Given the description of an element on the screen output the (x, y) to click on. 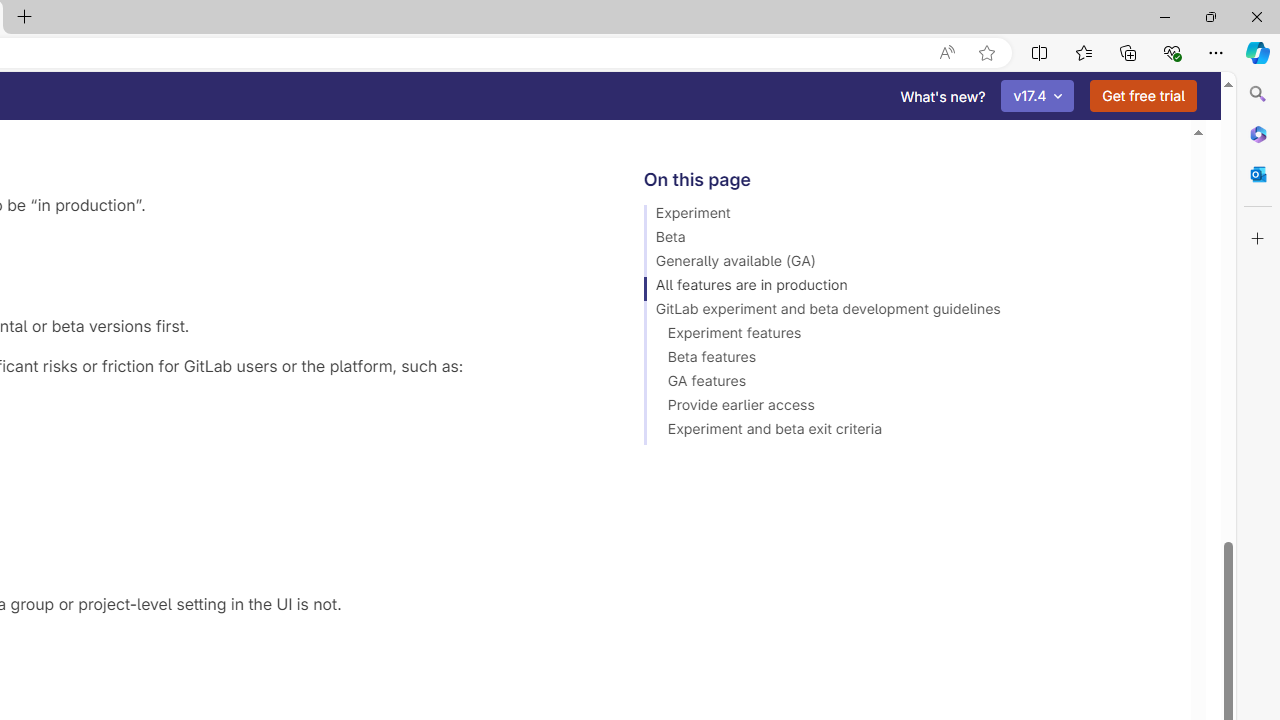
Beta (908, 240)
GA features (908, 384)
Get free trial (1143, 95)
Experiment (908, 215)
GitLab experiment and beta development guidelines (908, 312)
Experiment and beta exit criteria (908, 431)
What's new? (943, 96)
Get free trial (1143, 95)
